Given the description of an element on the screen output the (x, y) to click on. 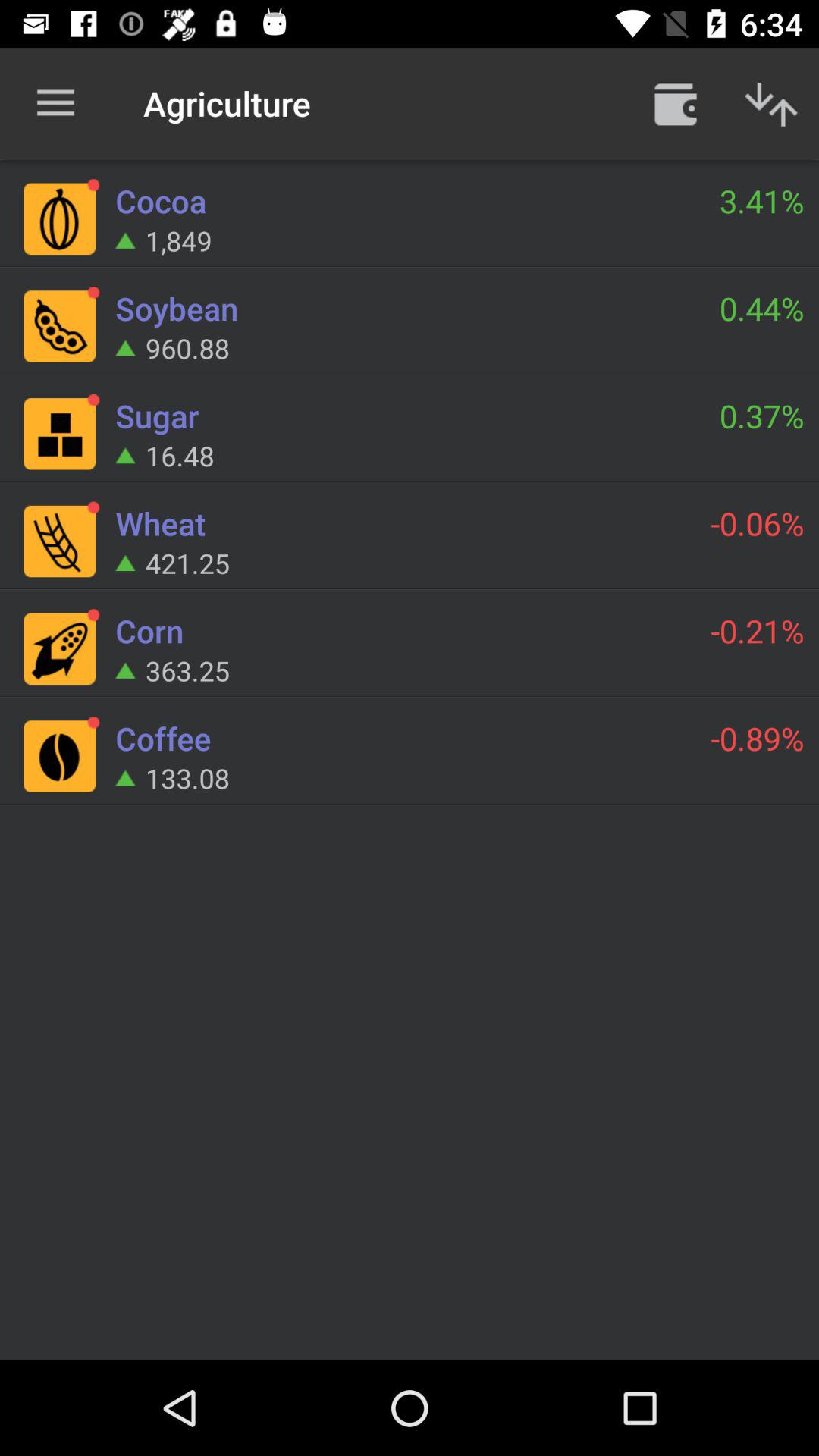
sort ratings (771, 103)
